Given the description of an element on the screen output the (x, y) to click on. 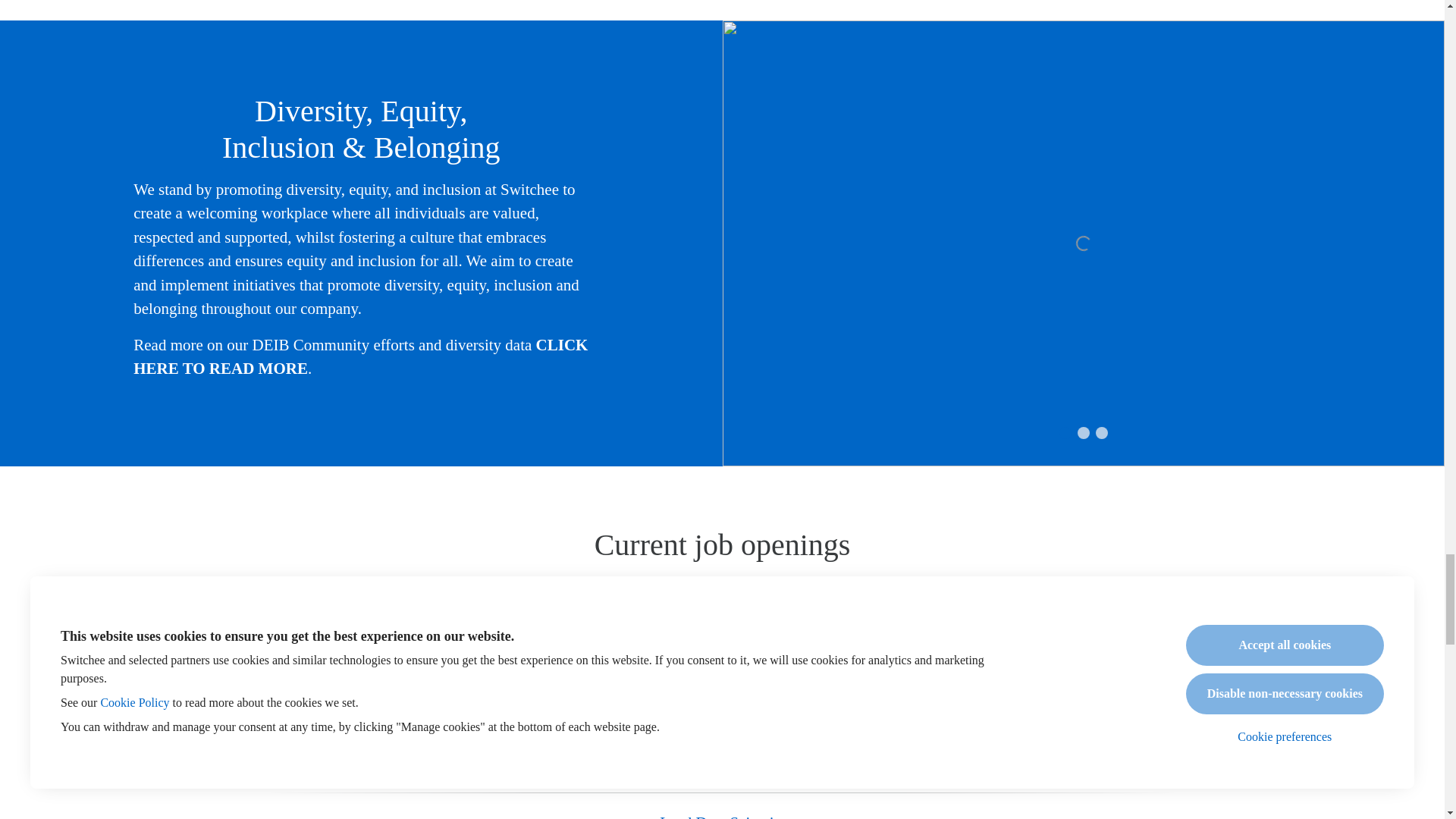
CLICK HERE TO READ MORE (360, 356)
Customer Success Manager (721, 654)
